Given the description of an element on the screen output the (x, y) to click on. 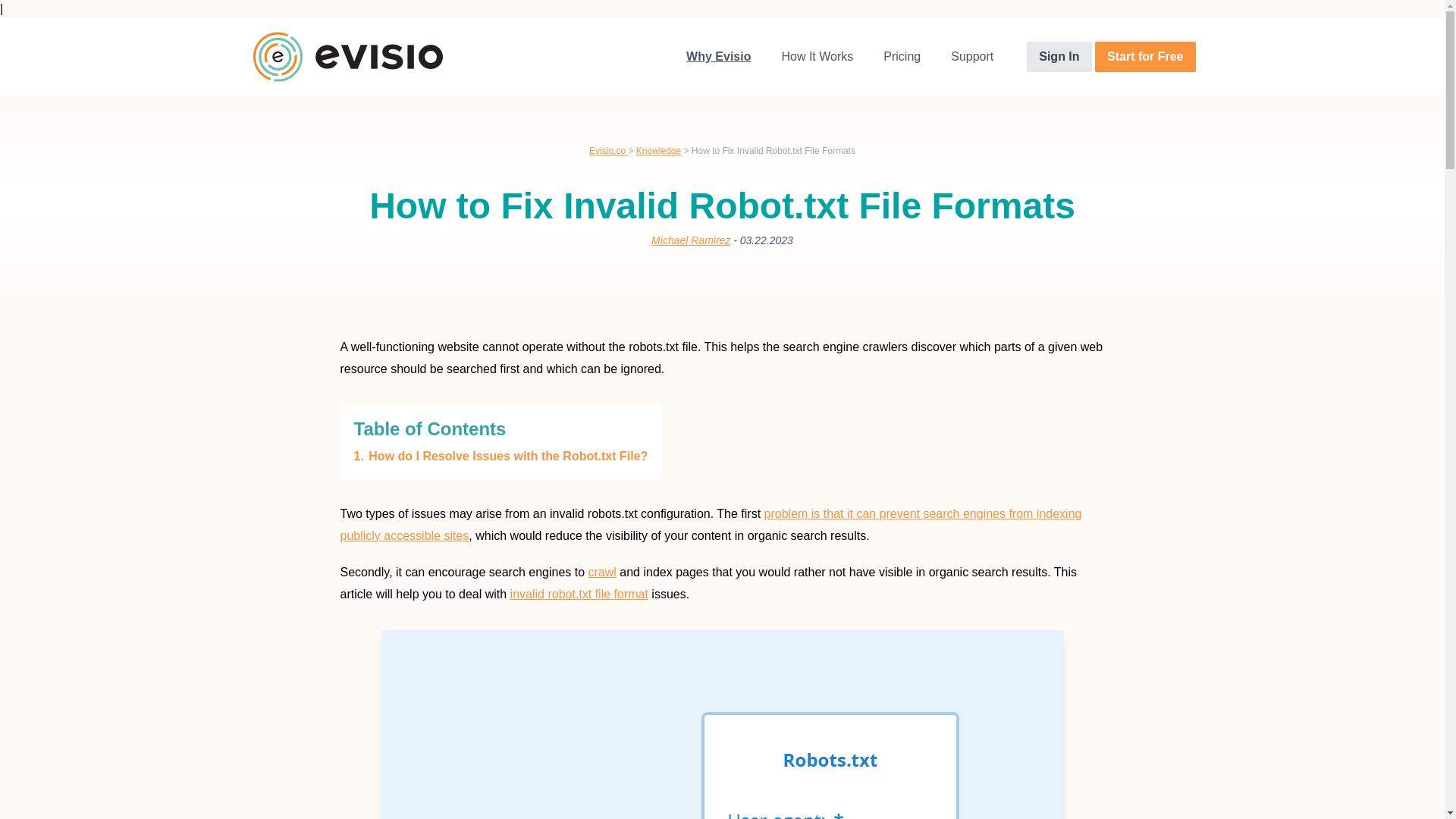
Start for Free (1144, 56)
Evisio.co (608, 150)
Knowledge (658, 150)
Go to Evisio.co. (608, 150)
Support (972, 56)
invalid robot.txt file format (579, 594)
Michael Ramirez (690, 239)
crawl (601, 571)
Sign In (1058, 56)
1. How do I Resolve Issues with the Robot.txt File? (500, 455)
How It Works (816, 56)
Pricing (901, 56)
Why Evisio (718, 56)
